Given the description of an element on the screen output the (x, y) to click on. 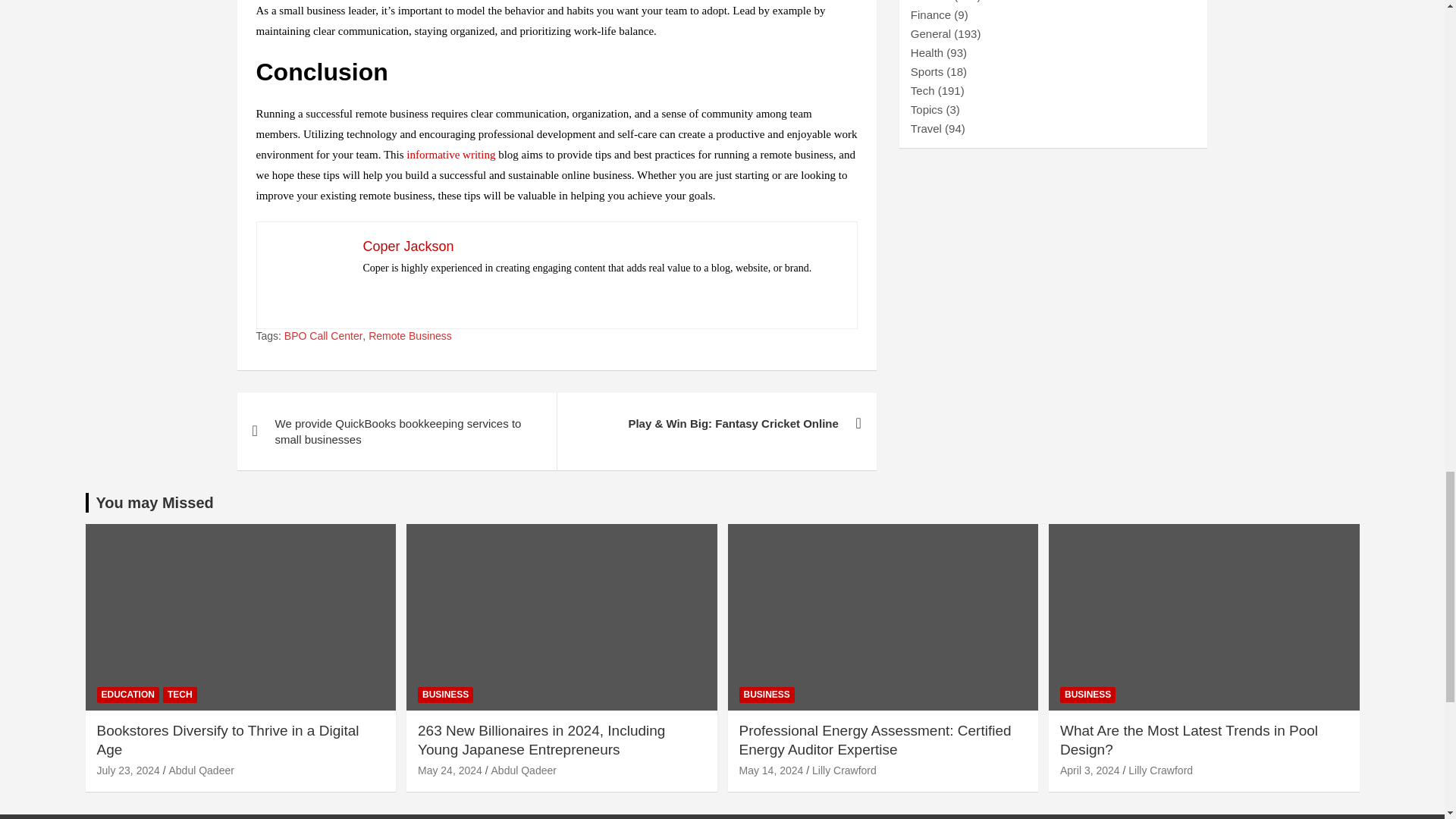
BPO Call Center (322, 336)
Coper Jackson (407, 246)
Bookstores Diversify to Thrive in a Digital Age (128, 770)
informative writing (450, 154)
Remote Business (409, 336)
